Given the description of an element on the screen output the (x, y) to click on. 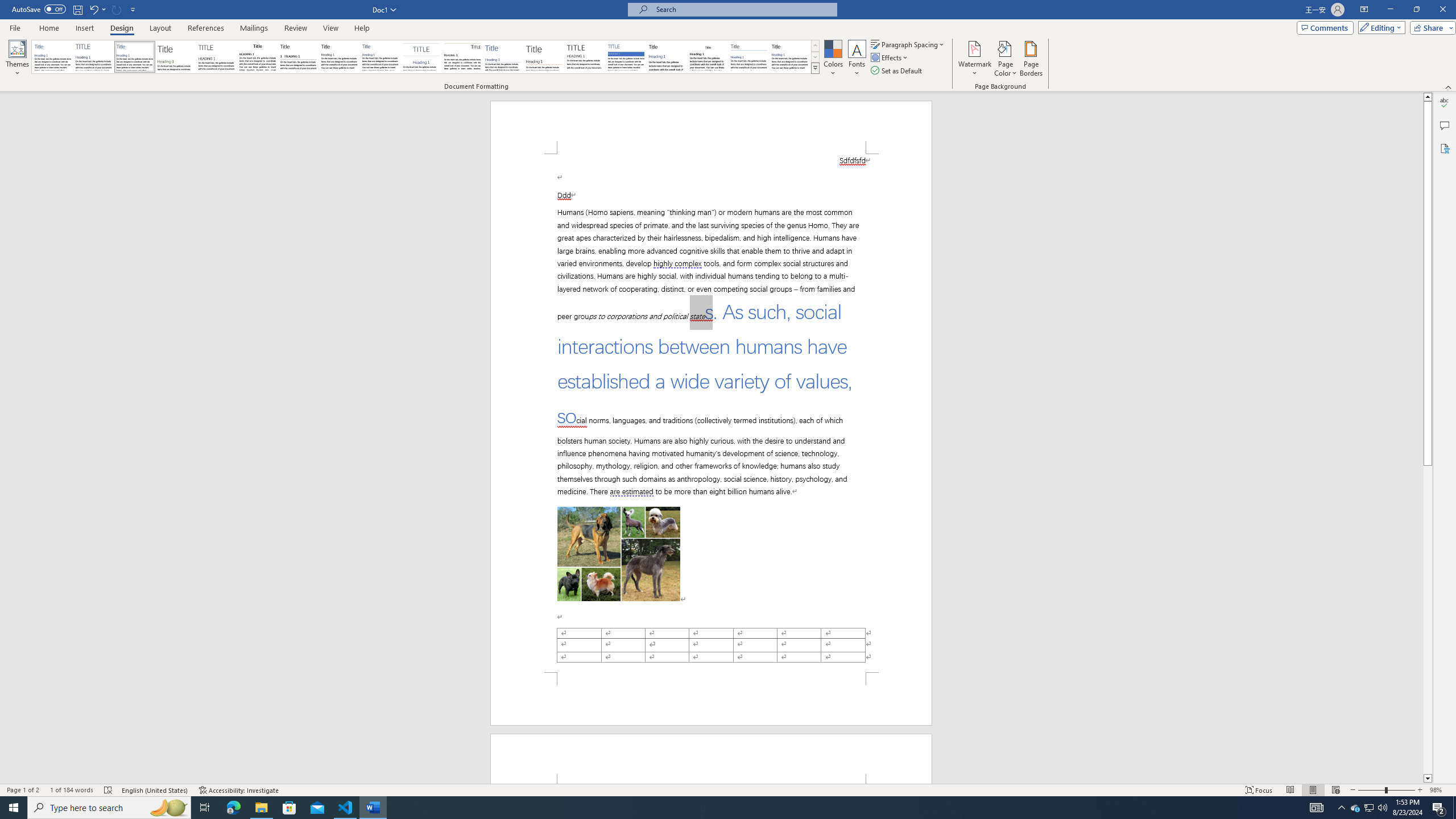
Casual (379, 56)
Word 2013 (790, 56)
AutomationID: QuickStylesSets (425, 56)
Basic (Stylish) (175, 56)
